Given the description of an element on the screen output the (x, y) to click on. 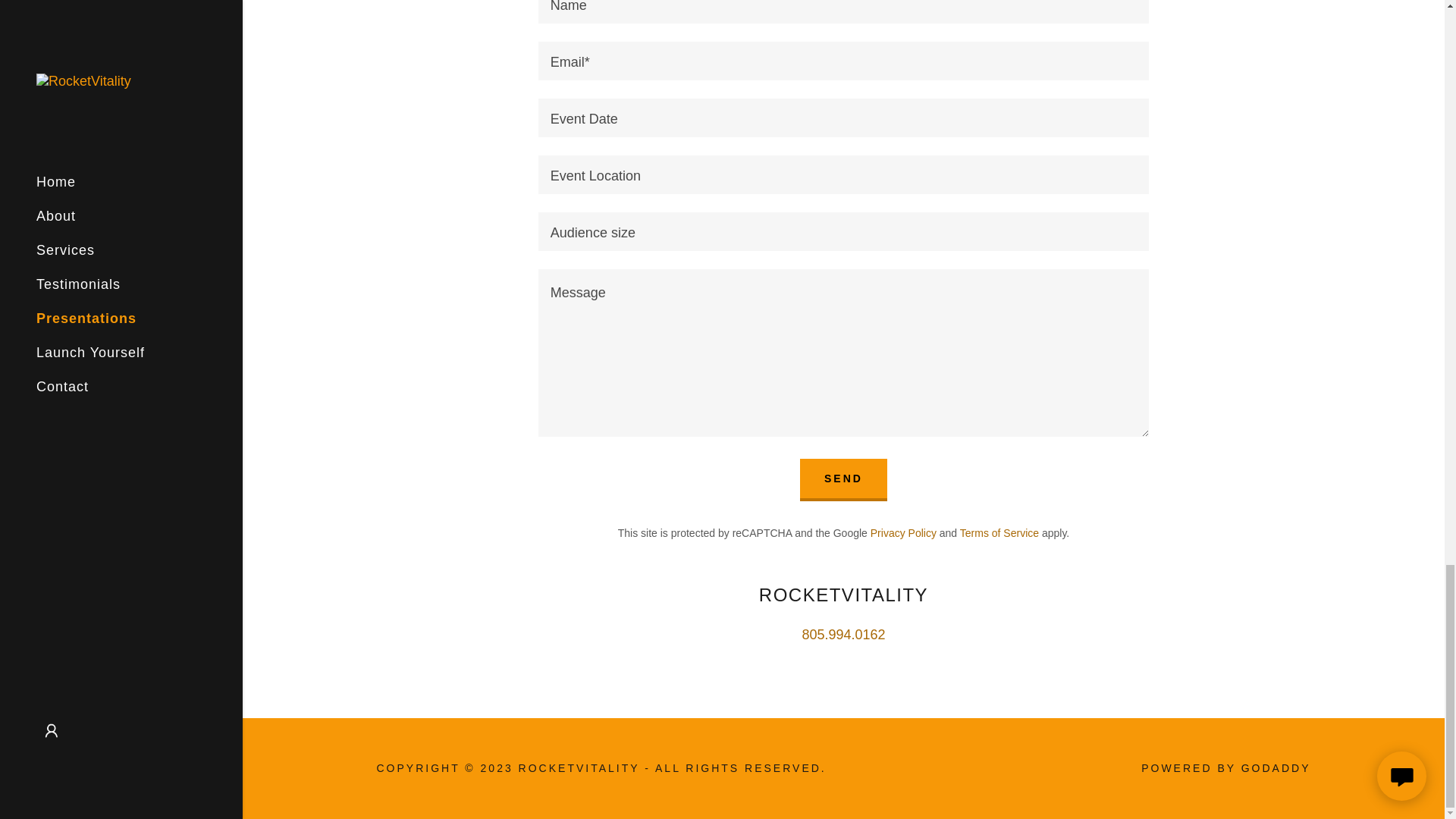
SEND (842, 479)
GODADDY (1276, 767)
Terms of Service (999, 532)
Privacy Policy (903, 532)
805.994.0162 (843, 634)
